Given the description of an element on the screen output the (x, y) to click on. 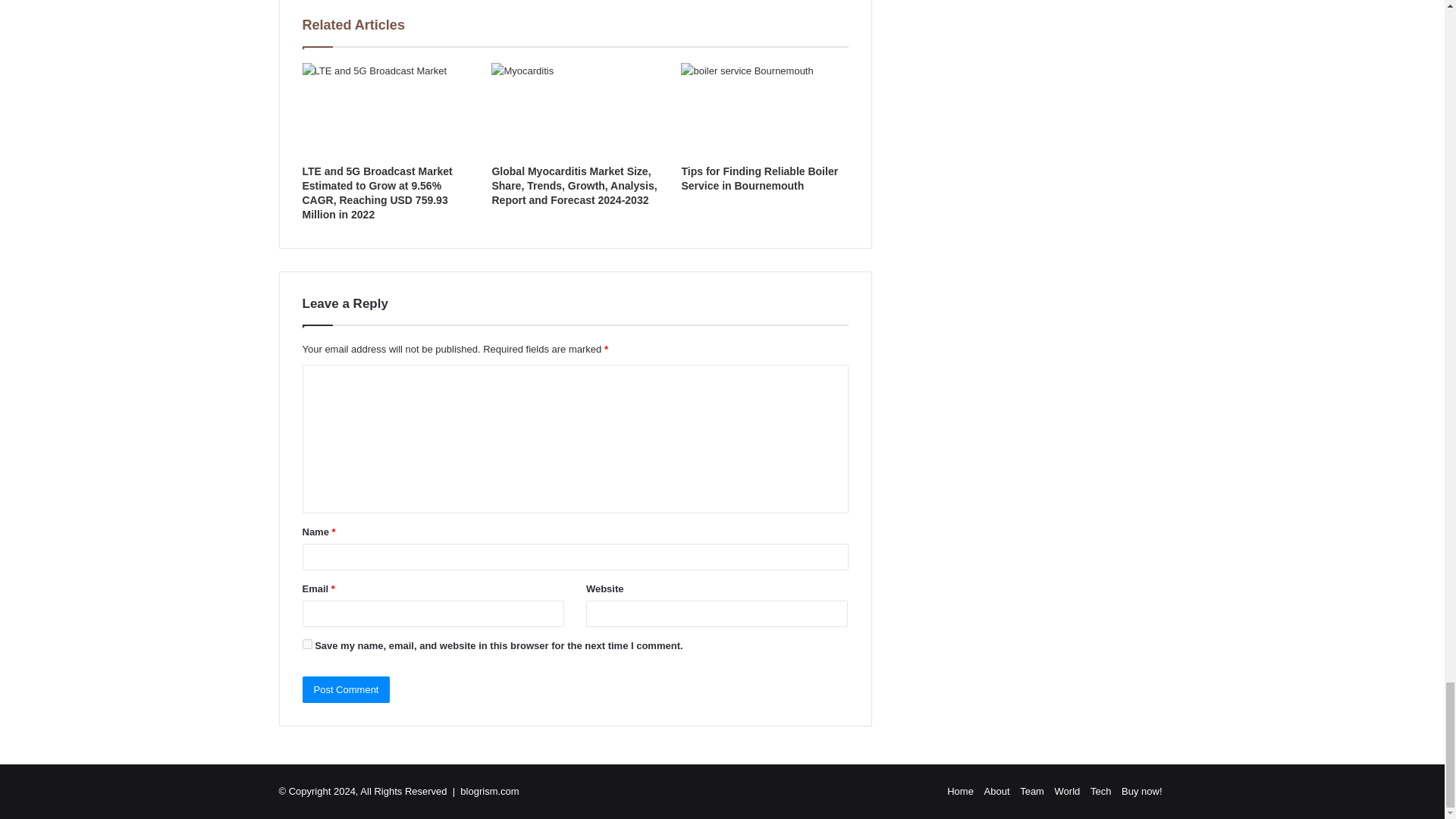
yes (306, 644)
Post Comment (345, 689)
